Given the description of an element on the screen output the (x, y) to click on. 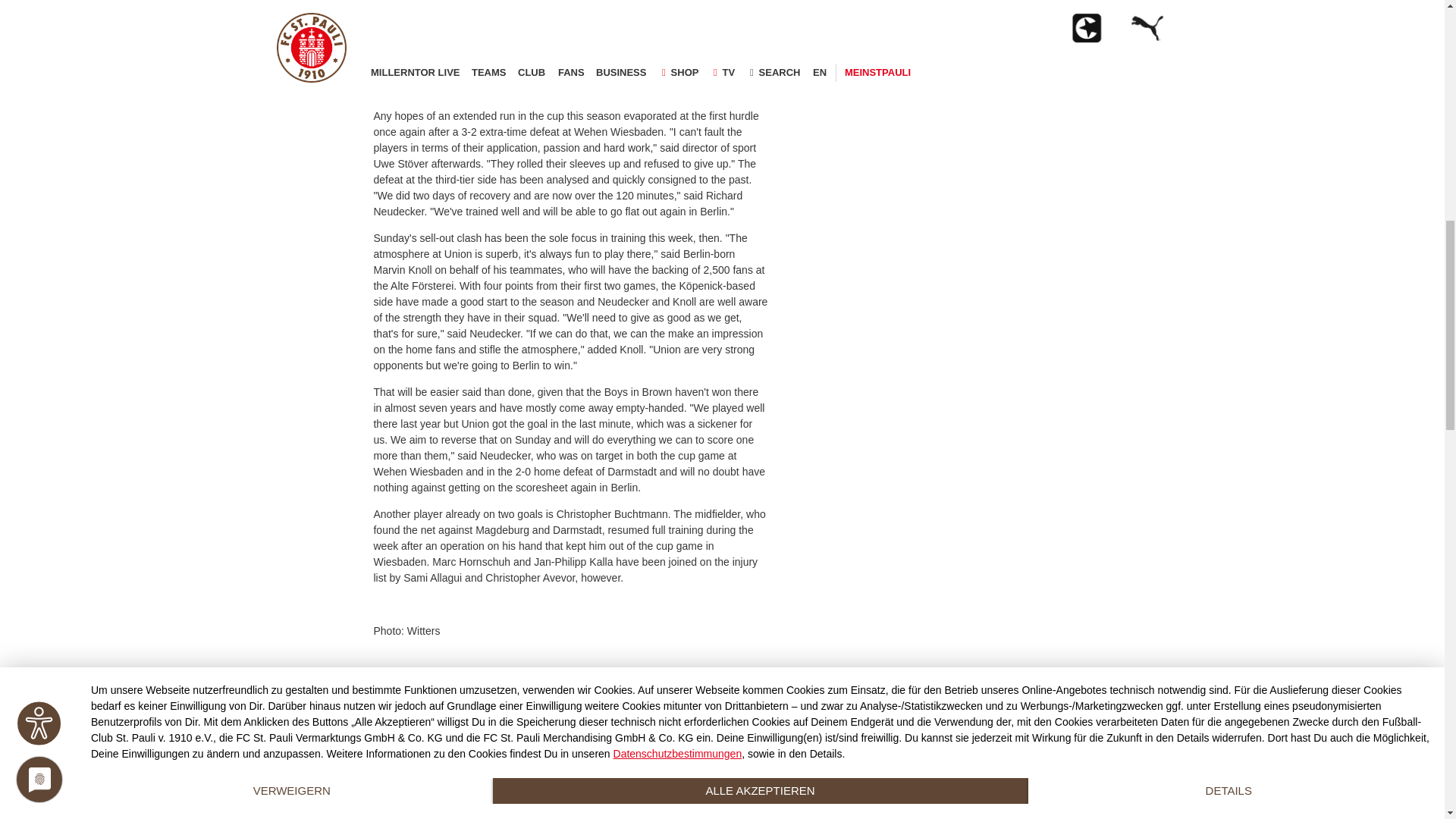
Per E-Mail teilen (317, 10)
